Given the description of an element on the screen output the (x, y) to click on. 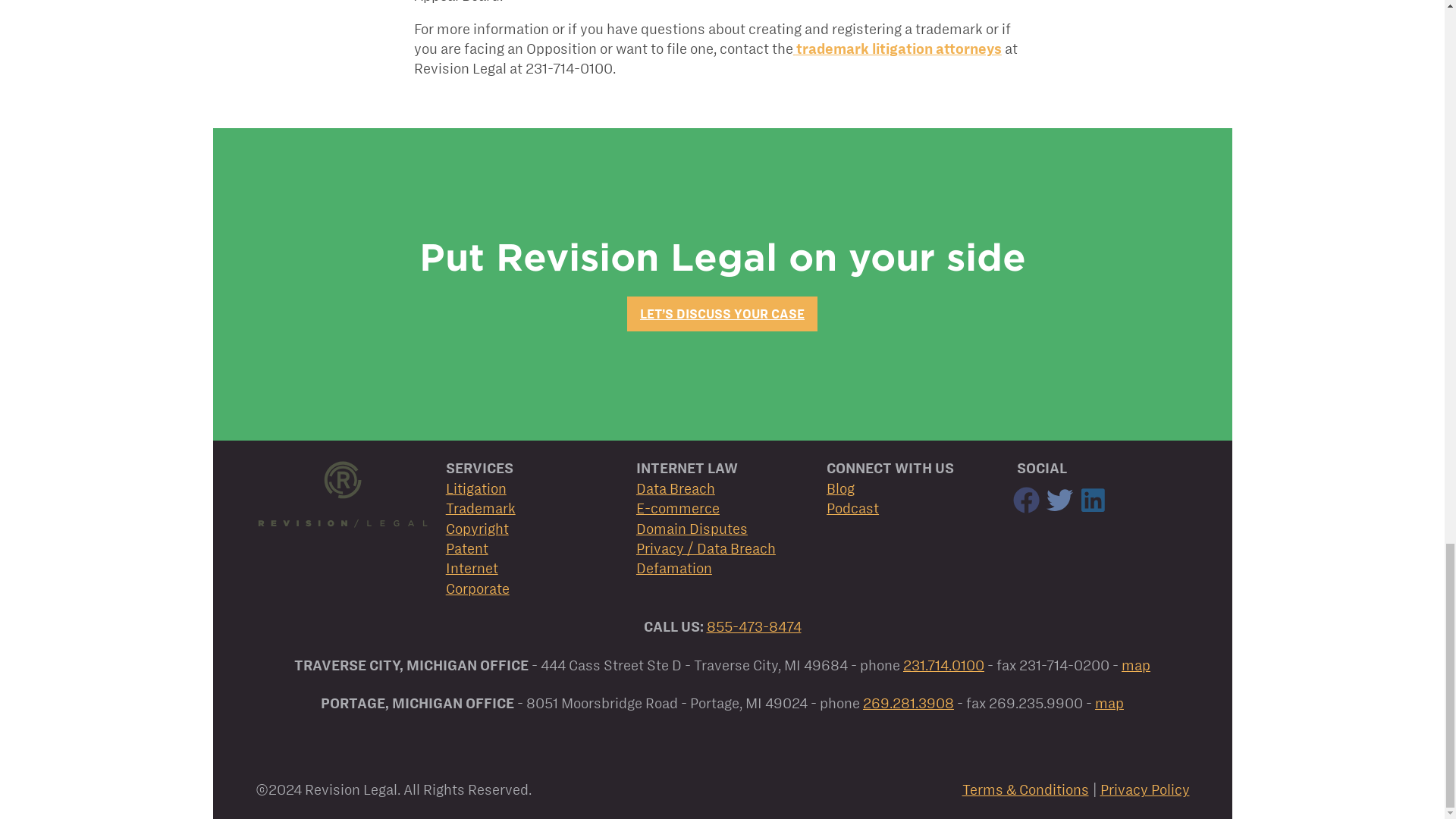
Data Breach (675, 488)
Litigation (475, 488)
Patent (466, 548)
trademark litigation attorneys (898, 48)
Trademark (480, 508)
E-commerce (677, 508)
855-473-8474 (754, 626)
Corporate (477, 588)
Domain Disputes (692, 528)
Podcast (853, 508)
Internet (471, 568)
Defamation (673, 568)
Copyright (476, 528)
Blog (840, 488)
231.714.0100 (943, 665)
